Given the description of an element on the screen output the (x, y) to click on. 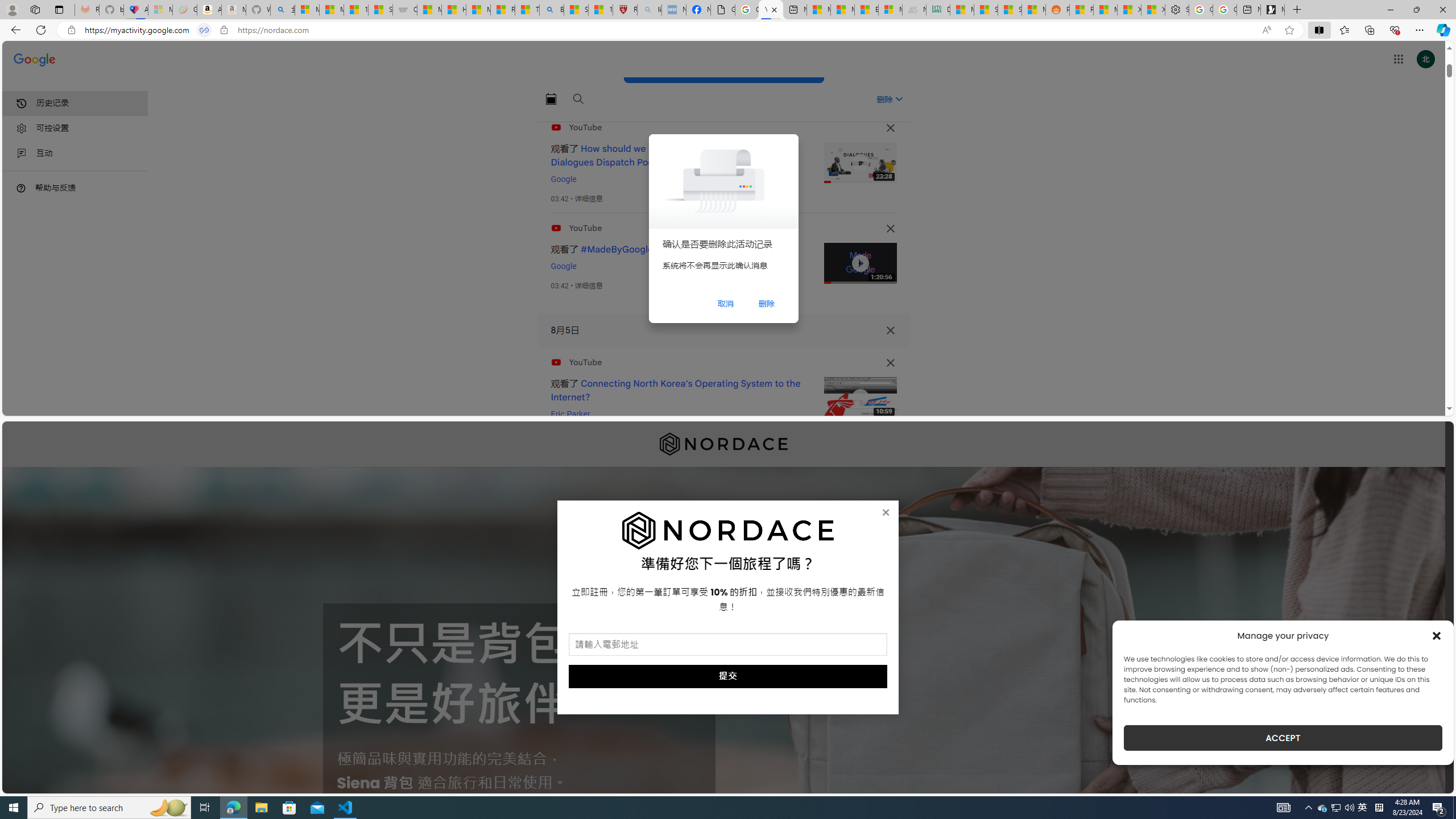
Connecting North Korea's Operating System to the Internet? (675, 390)
Entertainment - MSN (866, 9)
Google Analytics Opt-out Browser Add-on Download Page (722, 9)
